Given the description of an element on the screen output the (x, y) to click on. 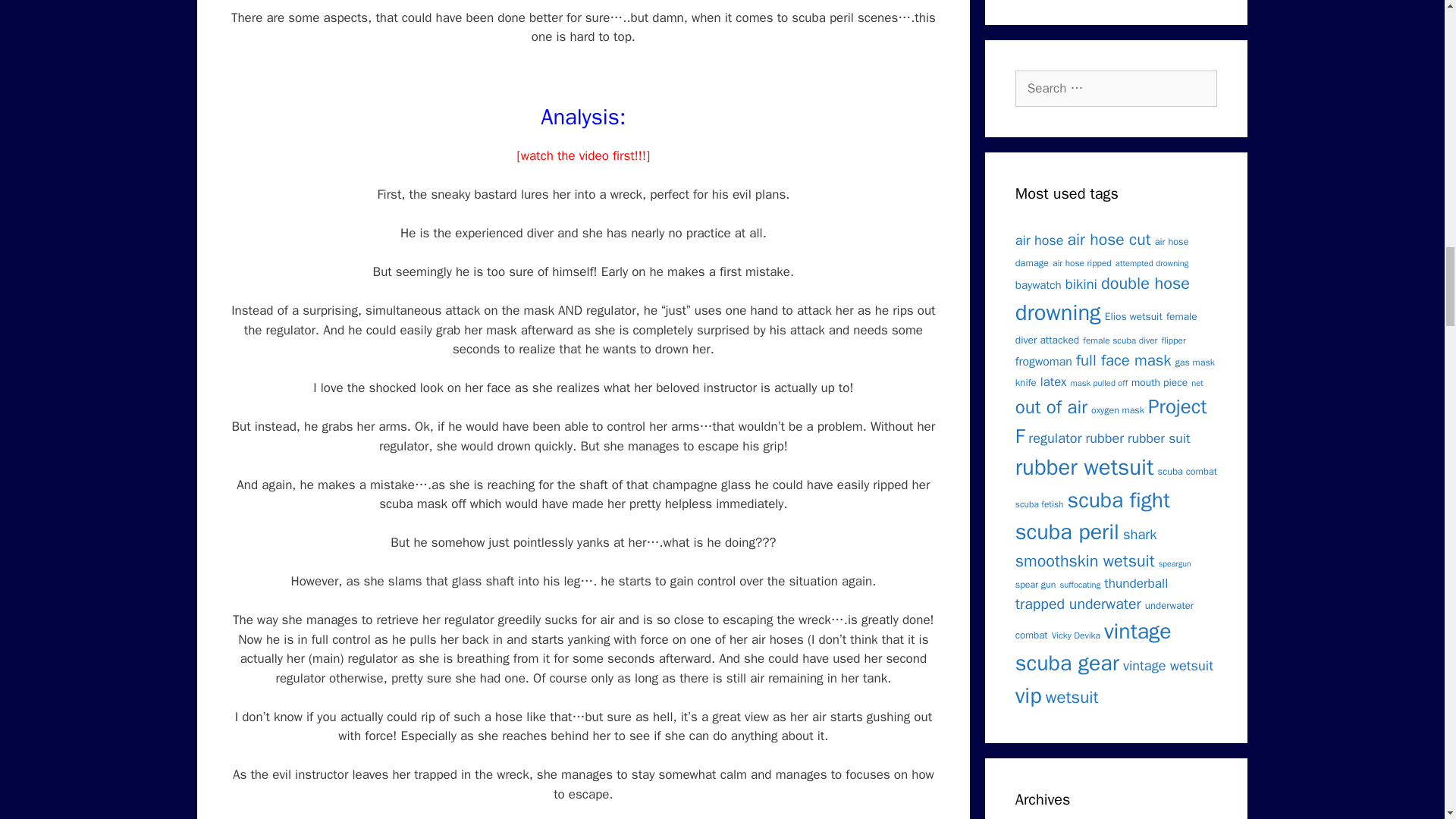
Search for: (1115, 88)
